Given the description of an element on the screen output the (x, y) to click on. 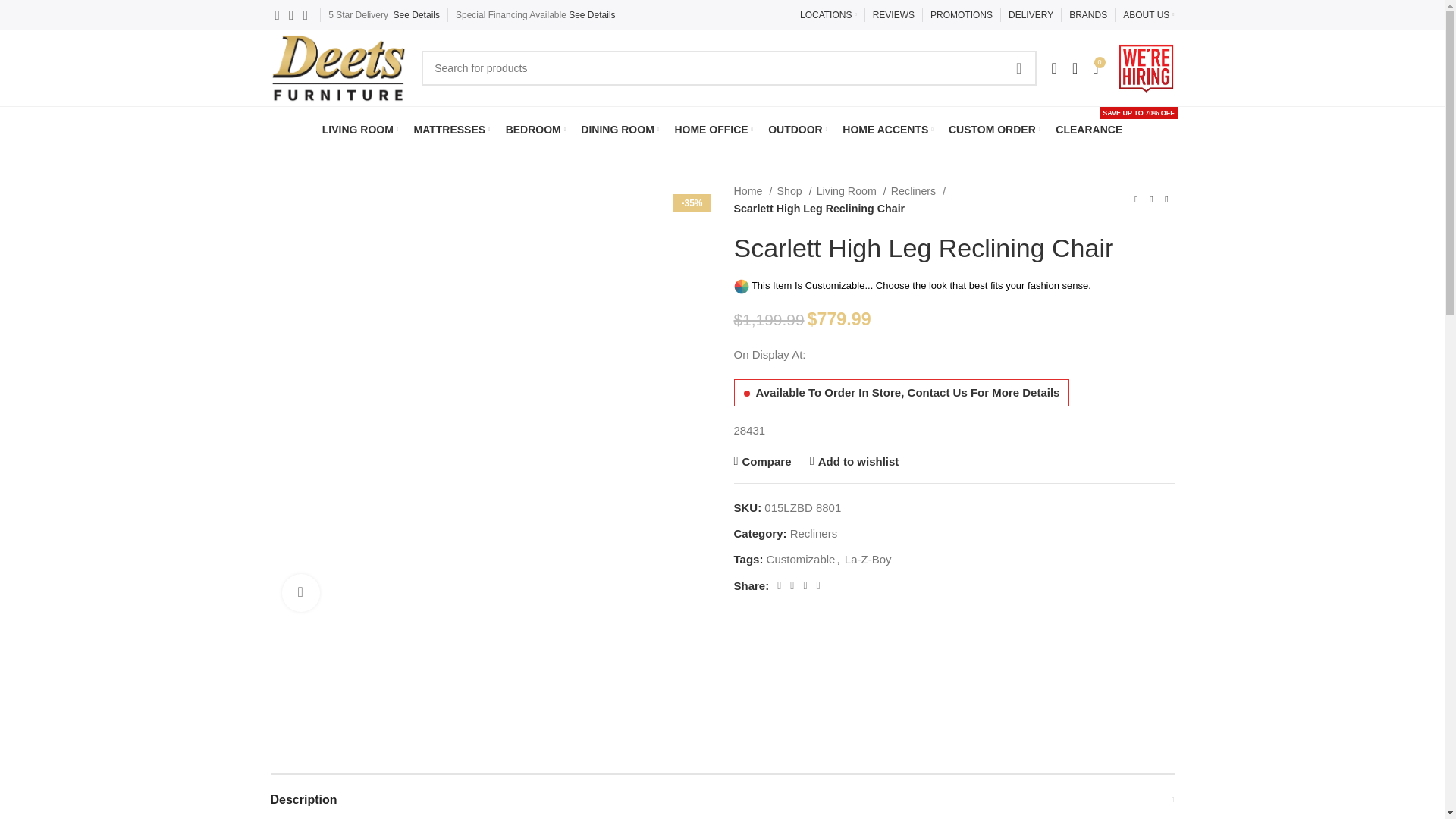
LOCATIONS (828, 15)
REVIEWS (893, 15)
See Details (591, 14)
See Details (416, 14)
PROMOTIONS (961, 15)
ABOUT US (1147, 15)
We're Hiring (1146, 68)
Search for products (728, 67)
SEARCH (1018, 67)
BRANDS (1087, 15)
DELIVERY (1030, 15)
Log in (931, 331)
